Given the description of an element on the screen output the (x, y) to click on. 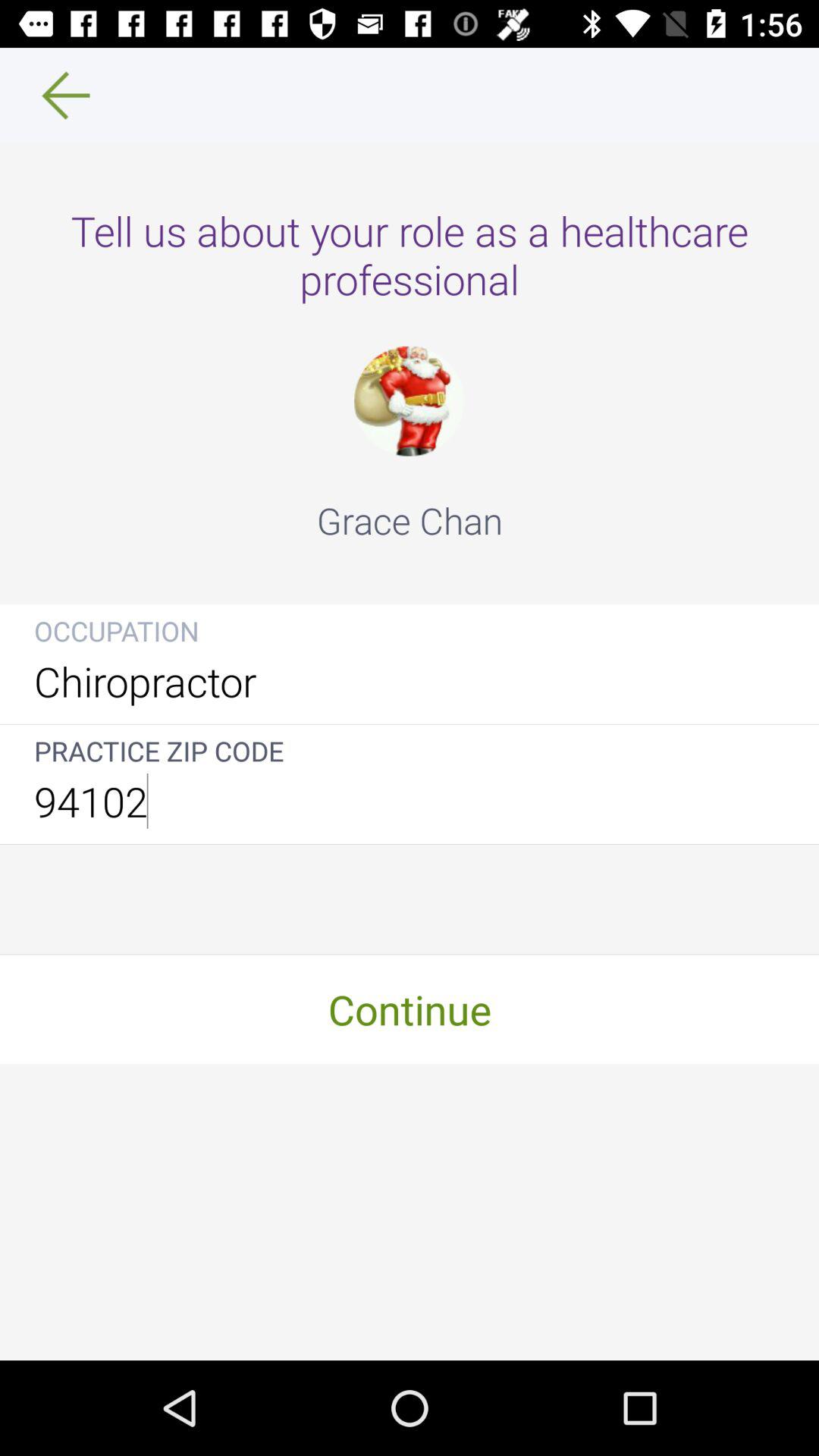
turn off the icon above the grace chan item (409, 401)
